Given the description of an element on the screen output the (x, y) to click on. 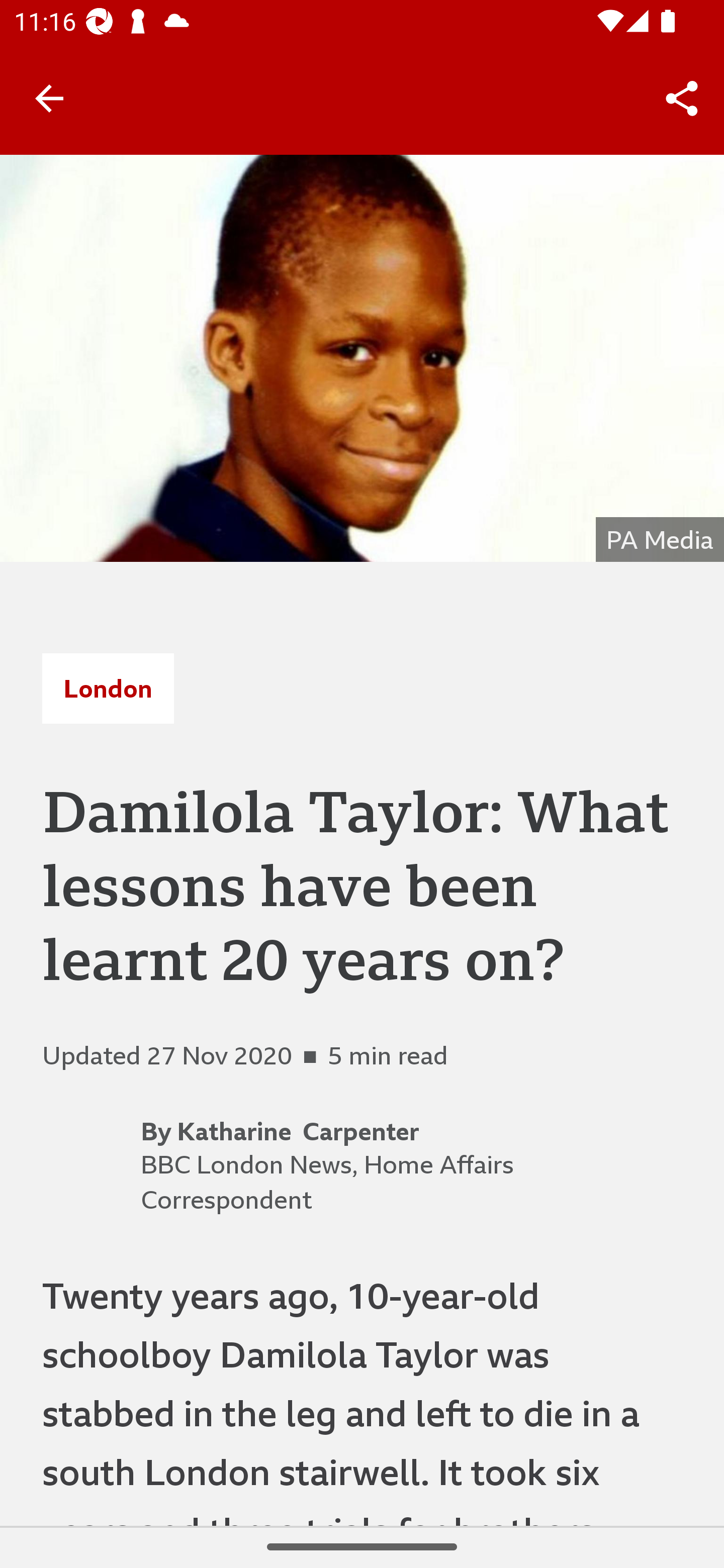
Back (49, 97)
Share (681, 98)
Damilola Taylor (362, 358)
London (107, 688)
